Given the description of an element on the screen output the (x, y) to click on. 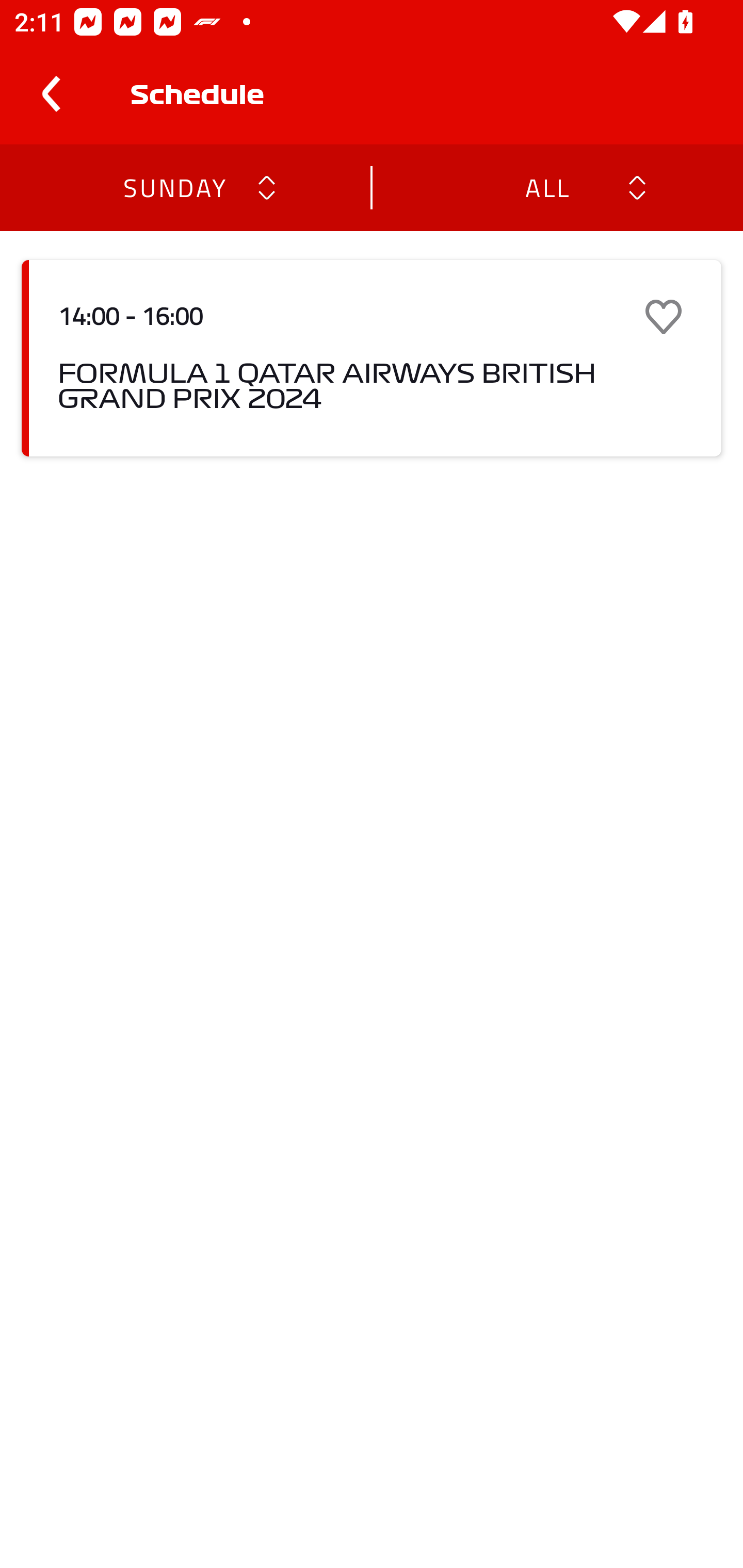
Navigate up (50, 93)
SUNDAY (174, 187)
ALL (546, 187)
